Given the description of an element on the screen output the (x, y) to click on. 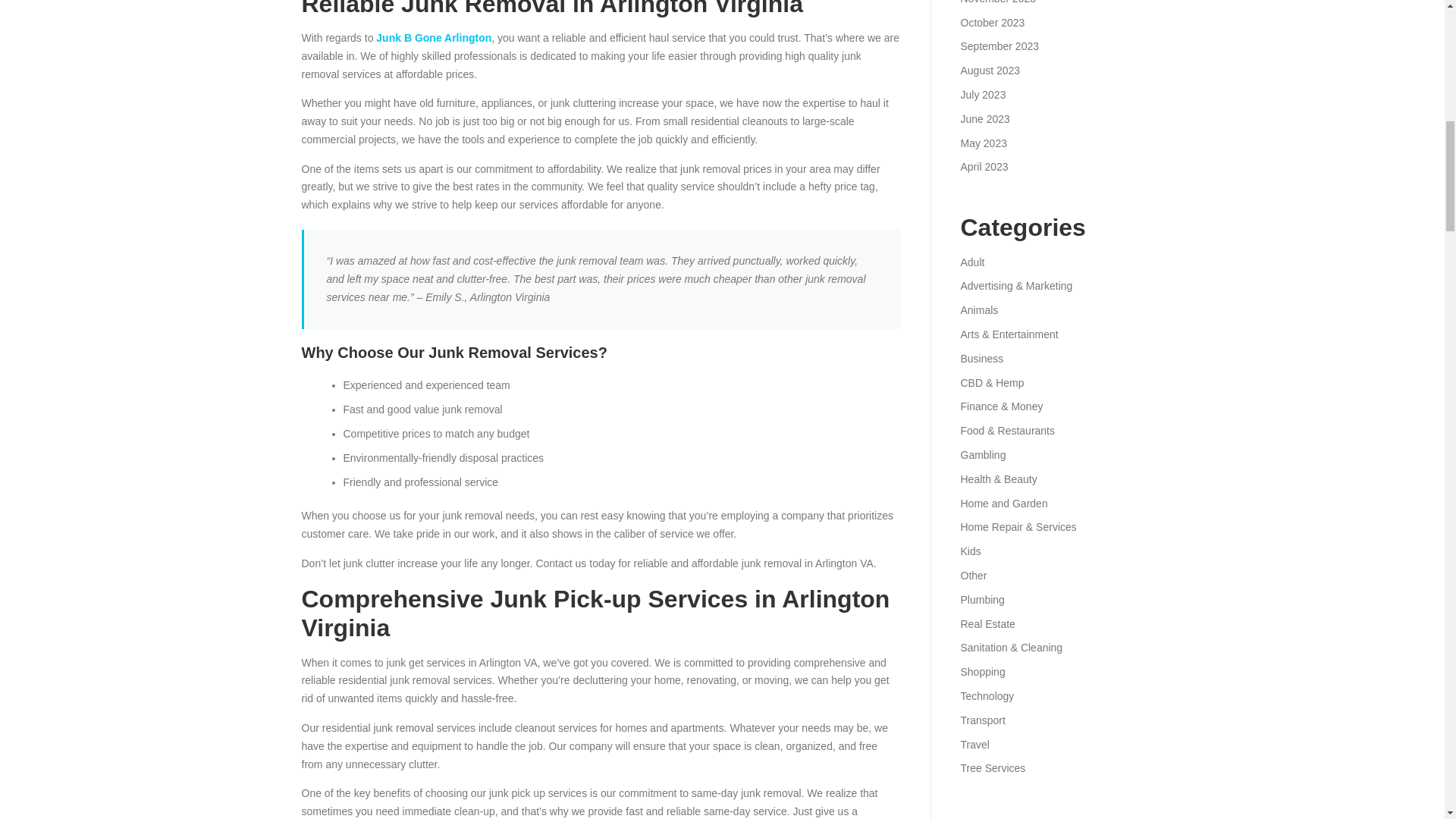
Animals (978, 309)
June 2023 (984, 119)
July 2023 (982, 94)
April 2023 (983, 166)
August 2023 (989, 70)
May 2023 (982, 143)
November 2023 (997, 2)
October 2023 (992, 22)
Junk B Gone Arlington (433, 37)
Adult (971, 262)
September 2023 (999, 46)
Business (981, 358)
